Given the description of an element on the screen output the (x, y) to click on. 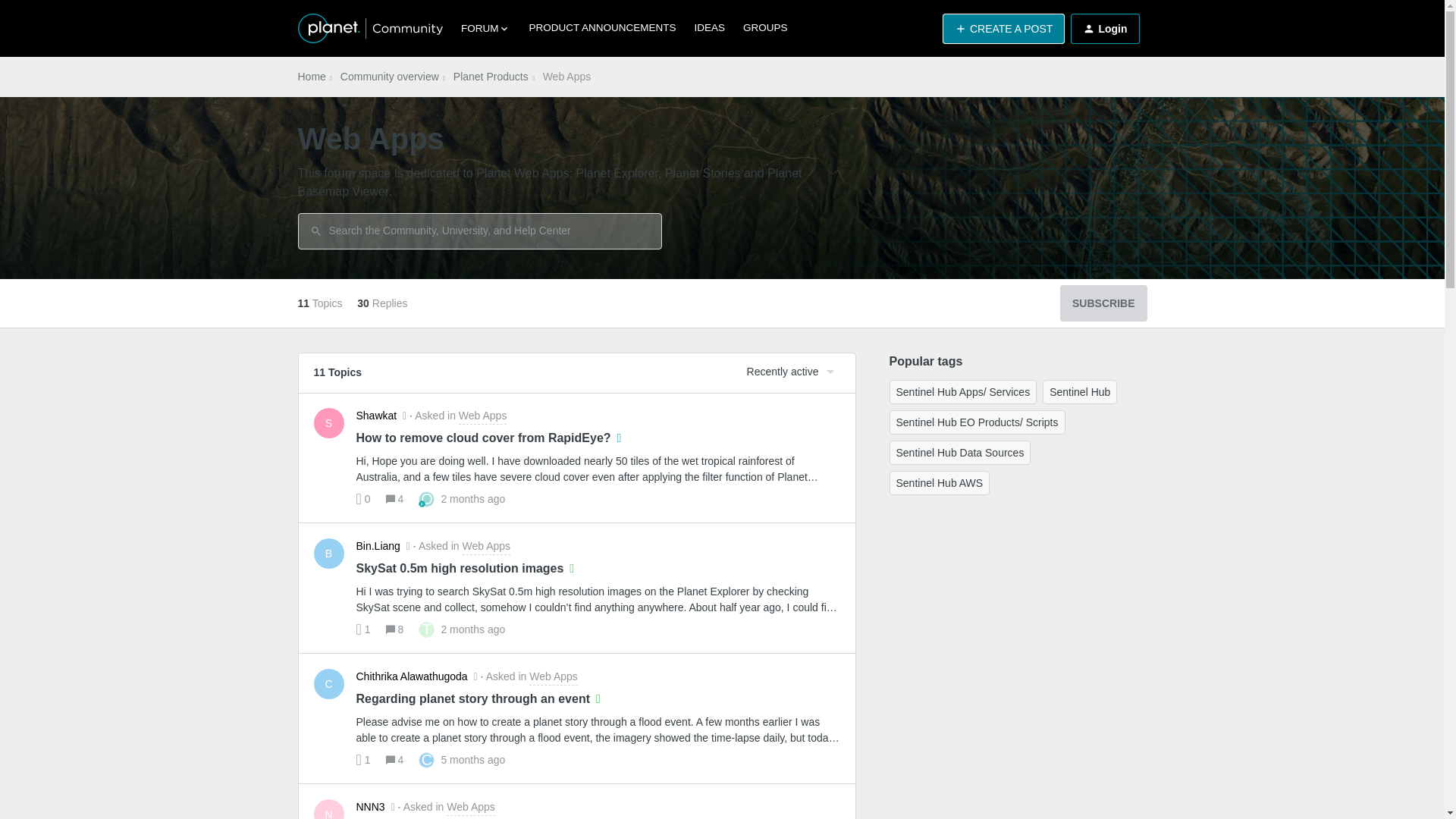
Shawkat (376, 415)
IDEAS (709, 28)
CREATE A POST (460, 416)
SUBSCRIBE (1003, 28)
Login (1103, 303)
S (1104, 28)
CREATE A POST (328, 422)
Community overview (1003, 28)
Planet Products (389, 76)
GROUPS (490, 76)
Home (764, 28)
FORUM (310, 76)
PRODUCT ANNOUNCEMENTS (486, 28)
